Given the description of an element on the screen output the (x, y) to click on. 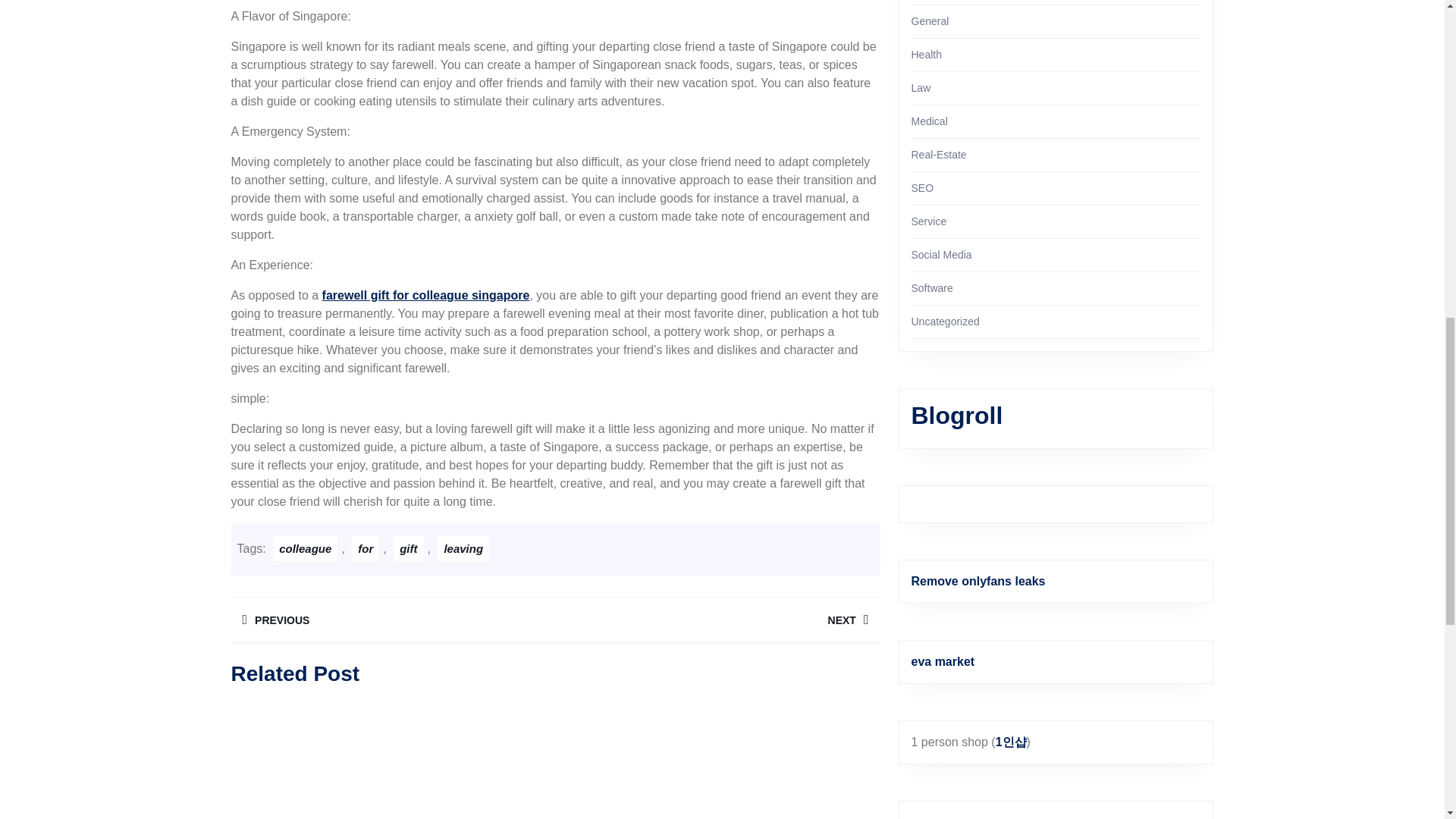
colleague (305, 548)
leaving (392, 619)
farewell gift for colleague singapore (463, 548)
gift (425, 295)
for (716, 619)
